Given the description of an element on the screen output the (x, y) to click on. 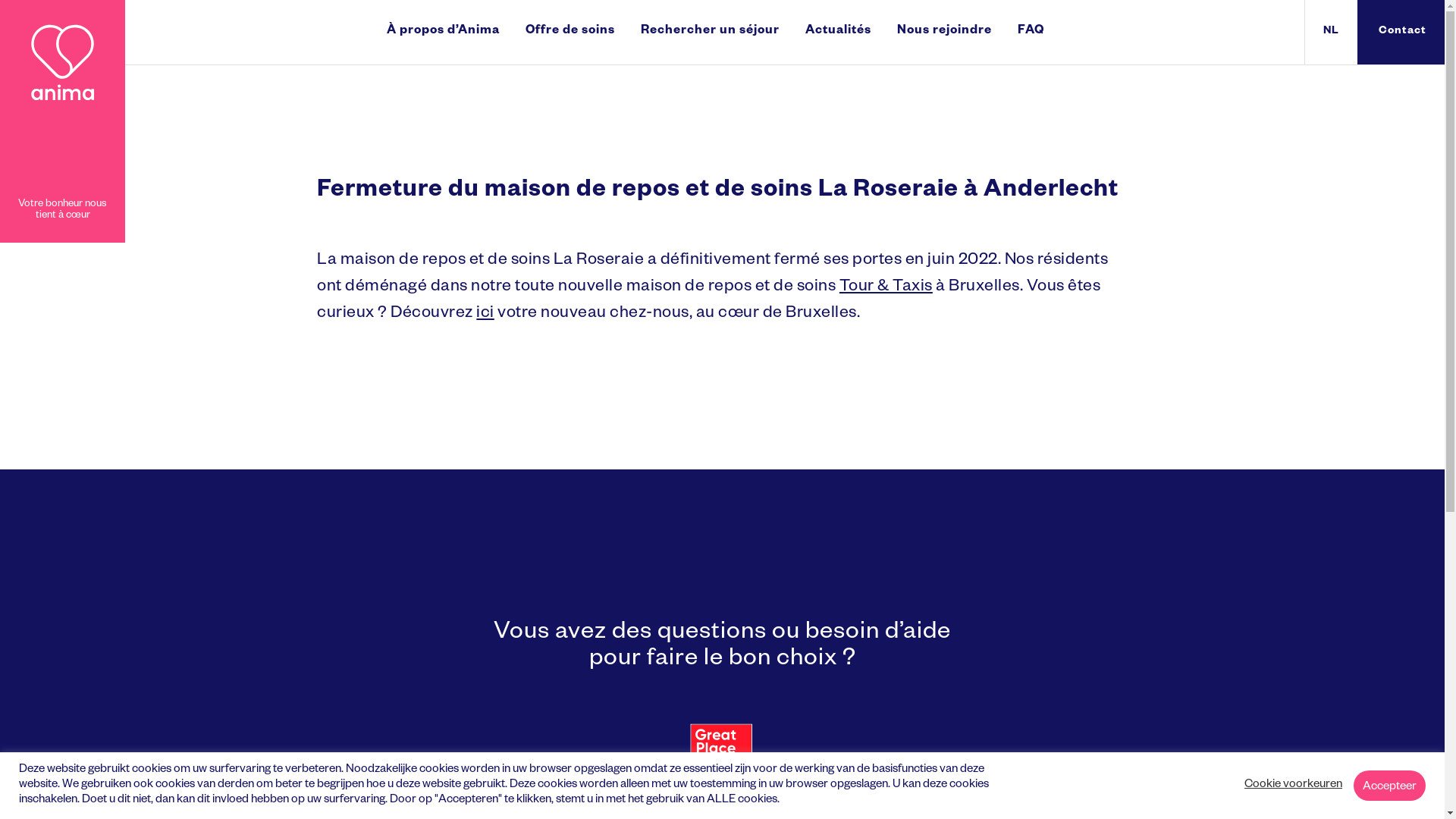
Accepteer Element type: text (1389, 785)
FAQ Element type: text (1030, 32)
Contact Element type: text (1400, 32)
Cookie voorkeuren Element type: text (1293, 785)
Nous rejoindre Element type: text (944, 32)
Tour & Taxis Element type: text (885, 288)
NL Element type: text (1331, 32)
Offre de soins Element type: text (569, 32)
ici Element type: text (485, 314)
